Given the description of an element on the screen output the (x, y) to click on. 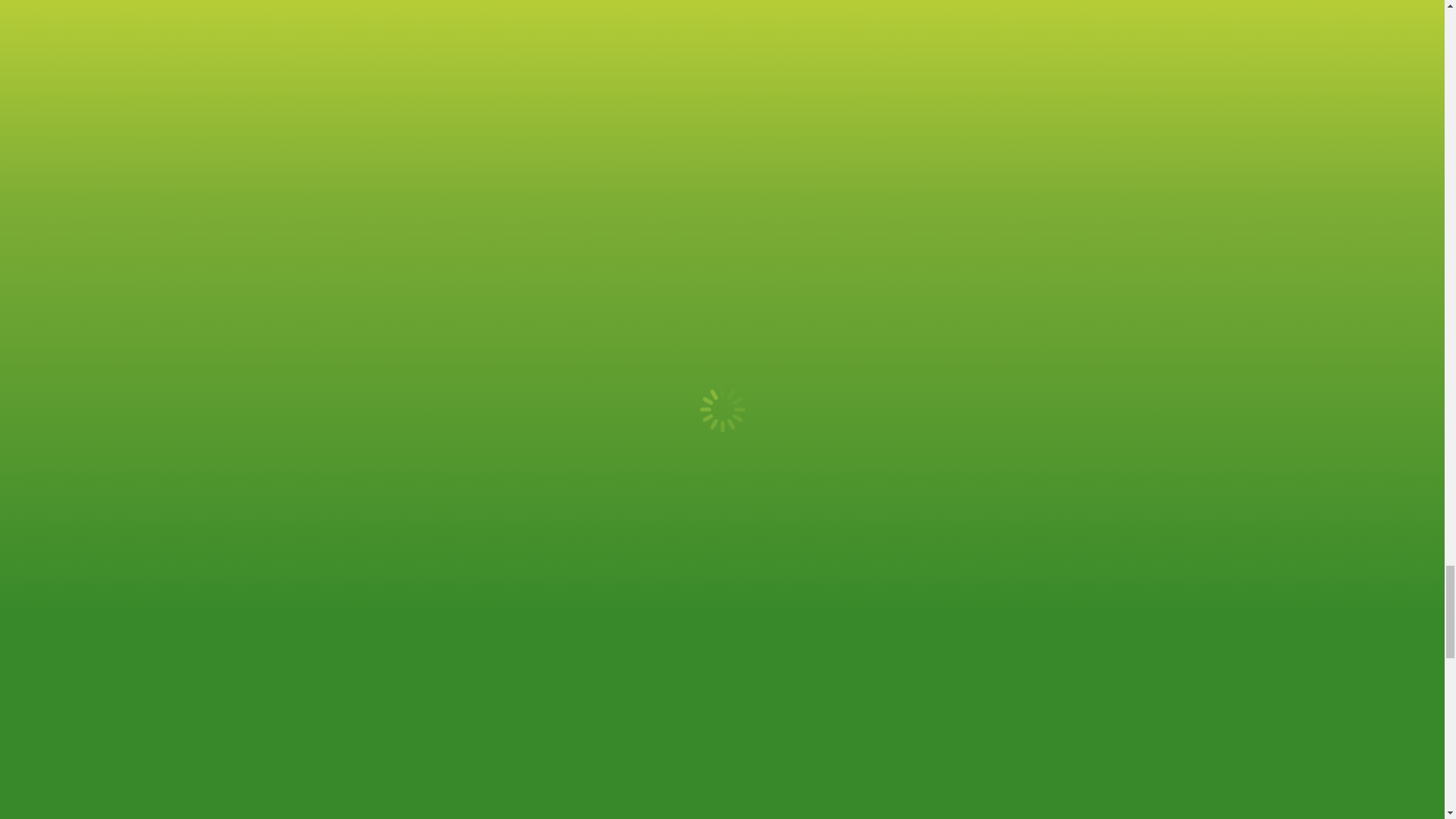
products LLFFB (576, 142)
5:25 pm (723, 570)
View all posts by Aimee Tipple (651, 570)
